Given the description of an element on the screen output the (x, y) to click on. 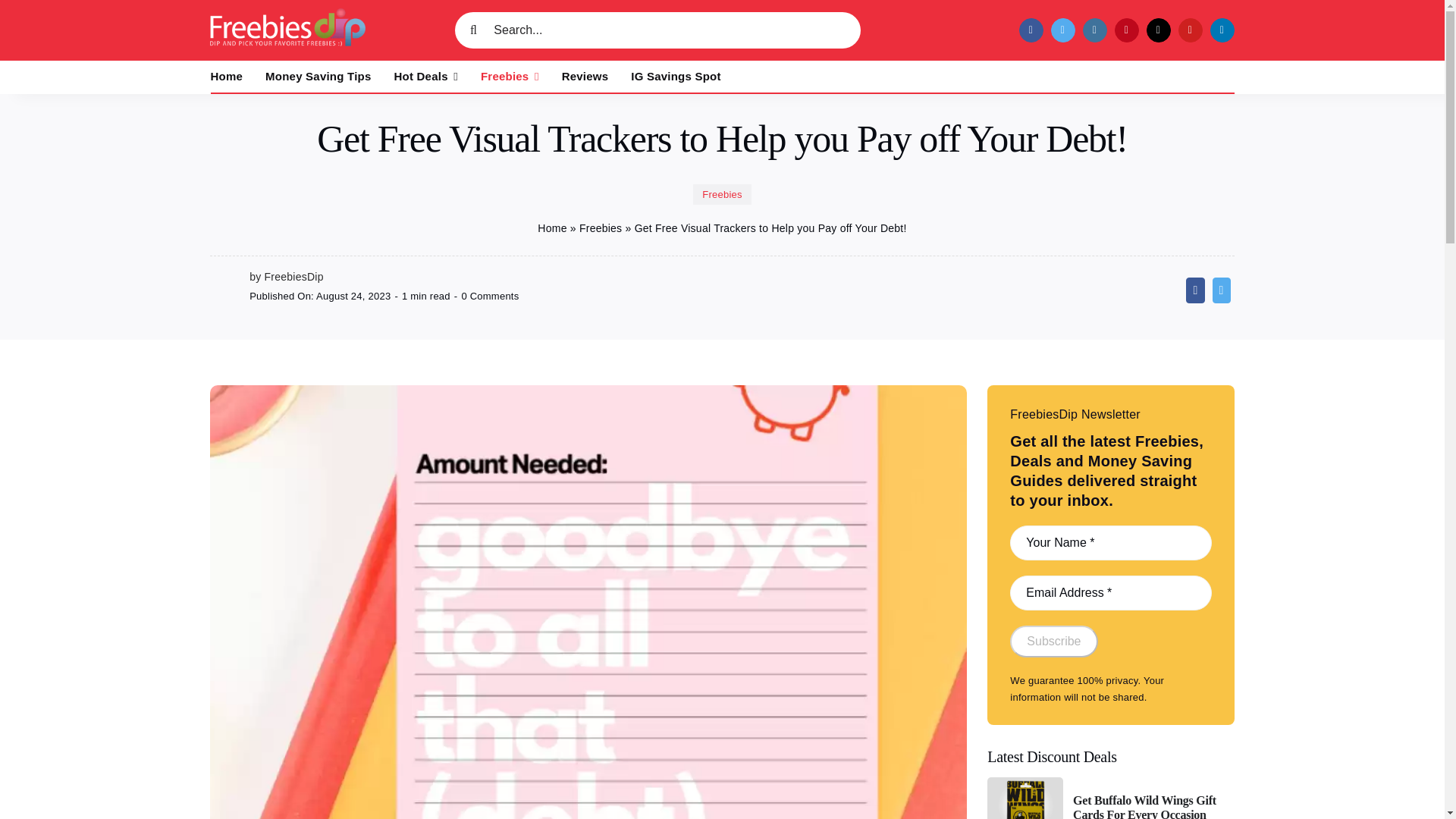
Home (227, 77)
Freebies (509, 77)
Money Saving Tips (317, 77)
Hot Deals (426, 77)
